Given the description of an element on the screen output the (x, y) to click on. 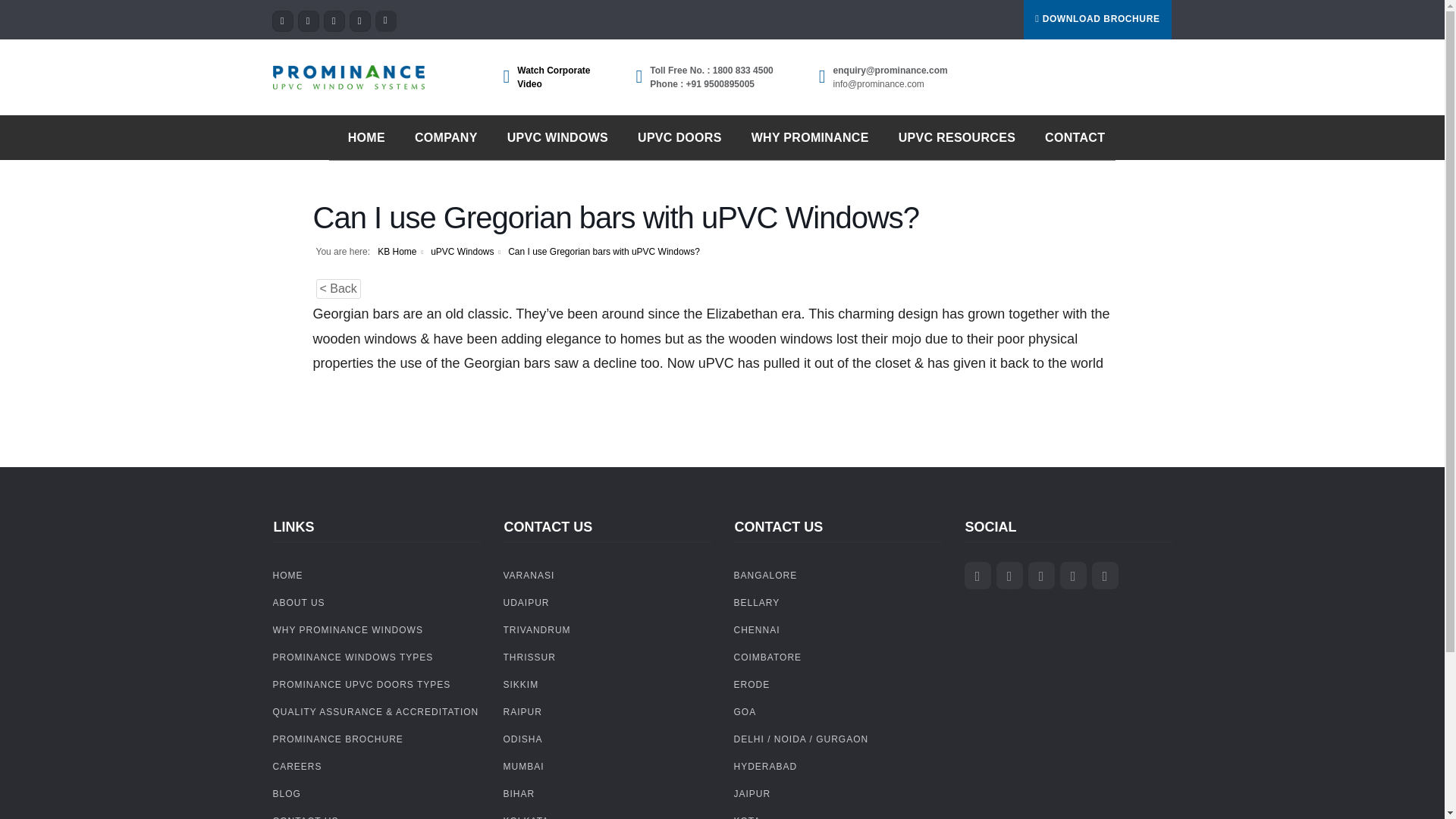
UPVC WINDOWS (552, 137)
CONTACT (1070, 137)
WHY PROMINANCE (805, 137)
Get In Touch (1070, 137)
Overview (362, 137)
UPVC DOORS (675, 137)
HOME (362, 137)
UPVC RESOURCES (952, 137)
DOWNLOAD BROCHURE (1096, 19)
COMPANY (441, 137)
